Given the description of an element on the screen output the (x, y) to click on. 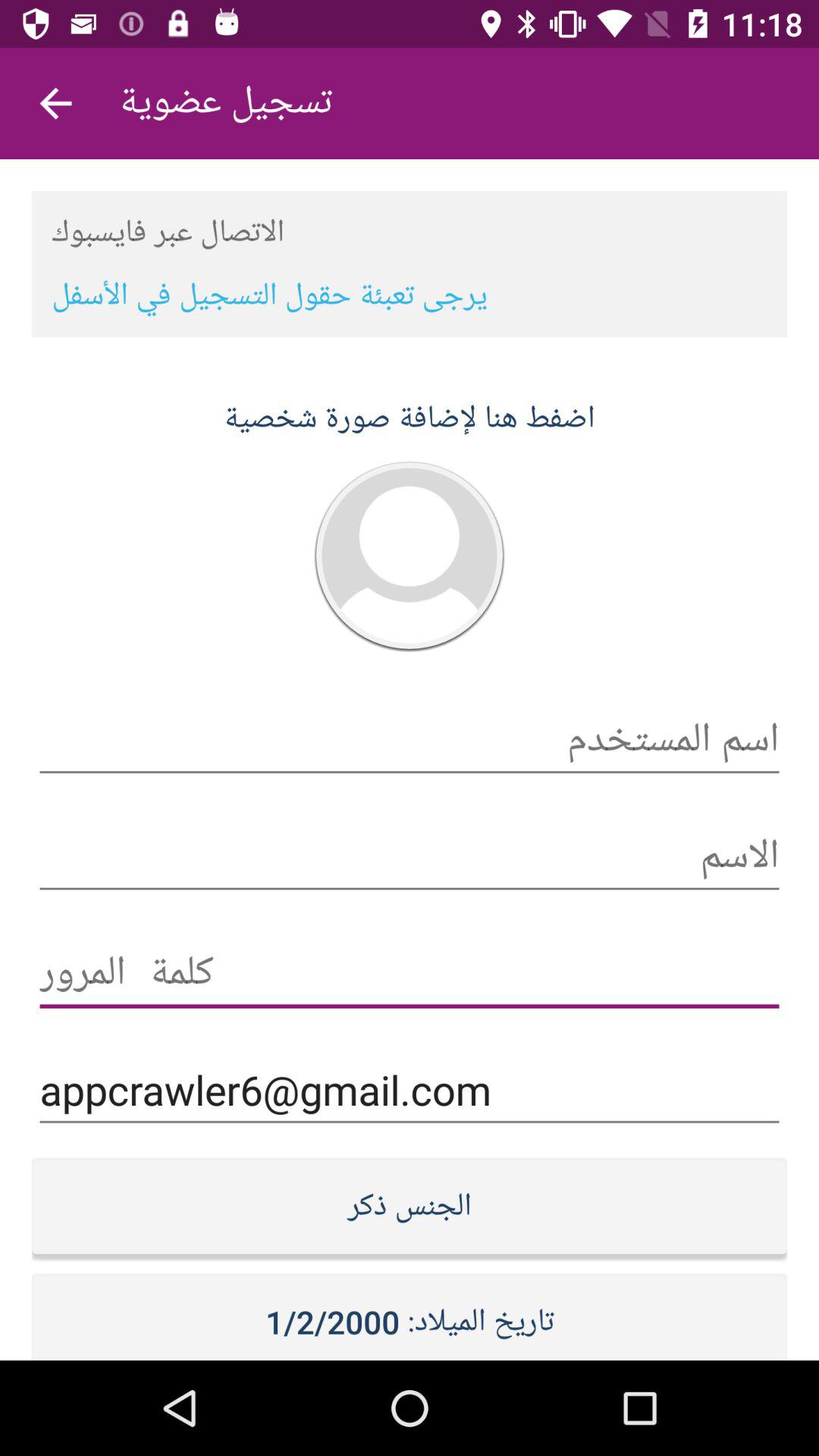
jump to grace (409, 973)
